Given the description of an element on the screen output the (x, y) to click on. 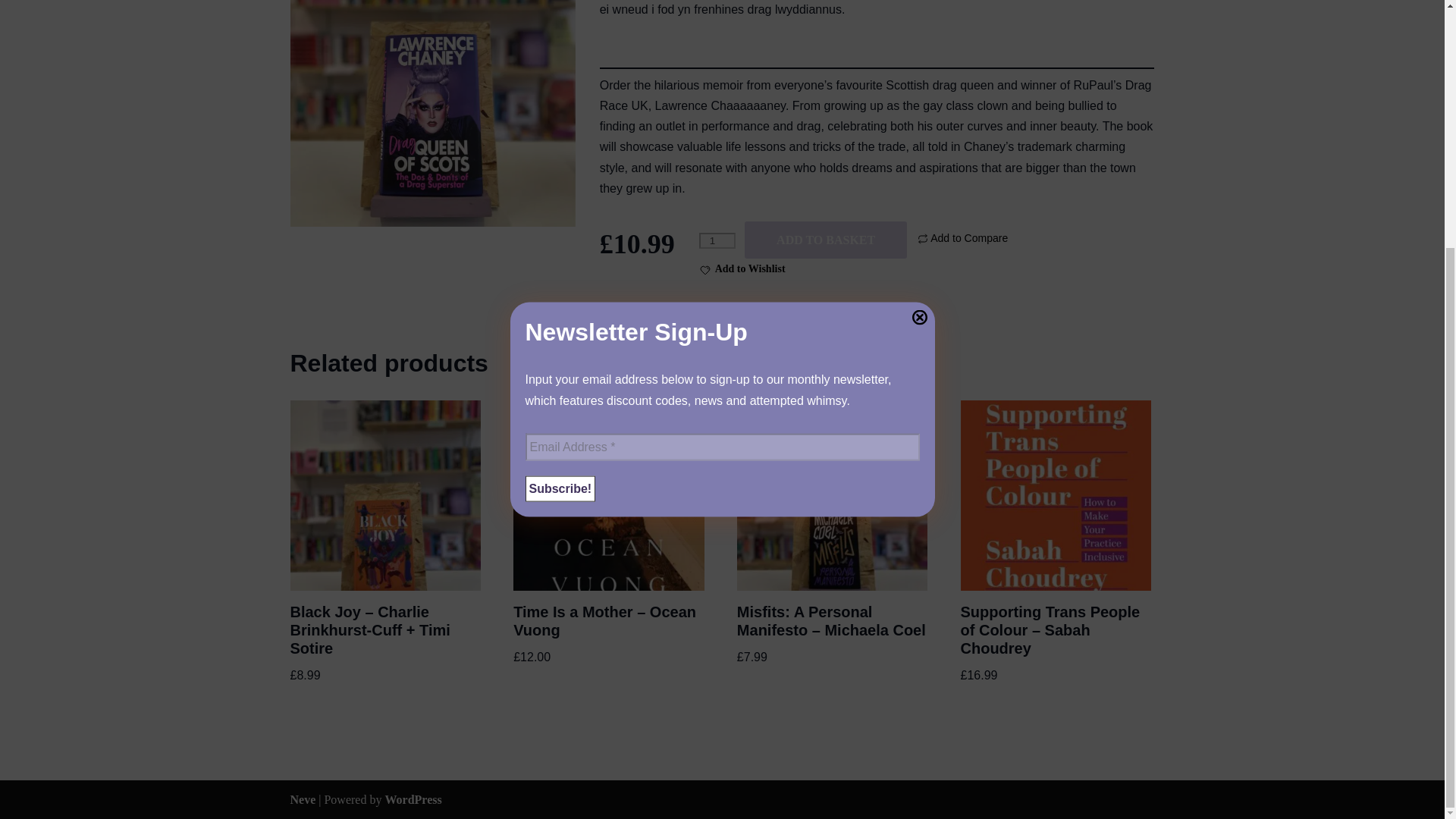
ADD TO BASKET (825, 240)
Neve (302, 799)
1 (716, 240)
Subscribe! (559, 141)
Add to Wishlist (742, 268)
PayPal (675, 304)
Subscribe! (559, 141)
WordPress (412, 799)
Drag Queen of Scots (432, 113)
Email Address (721, 99)
